Given the description of an element on the screen output the (x, y) to click on. 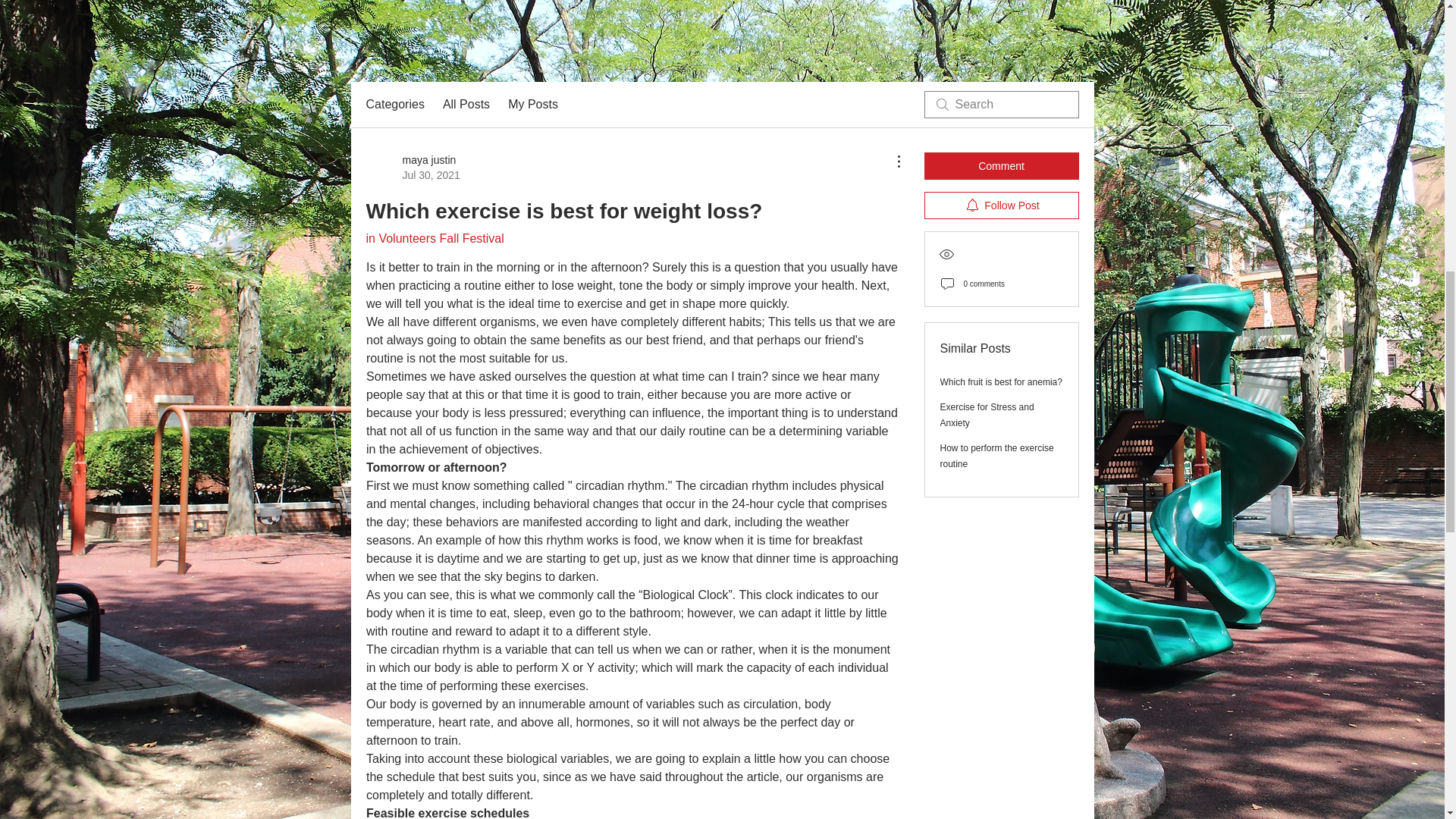
Comment (1000, 165)
Follow Post (1000, 205)
in Volunteers Fall Festival (434, 237)
Which fruit is best for anemia? (1001, 381)
How to perform the exercise routine (997, 456)
All Posts (465, 104)
Categories (412, 167)
Exercise for Stress and Anxiety (394, 104)
My Posts (986, 415)
